Given the description of an element on the screen output the (x, y) to click on. 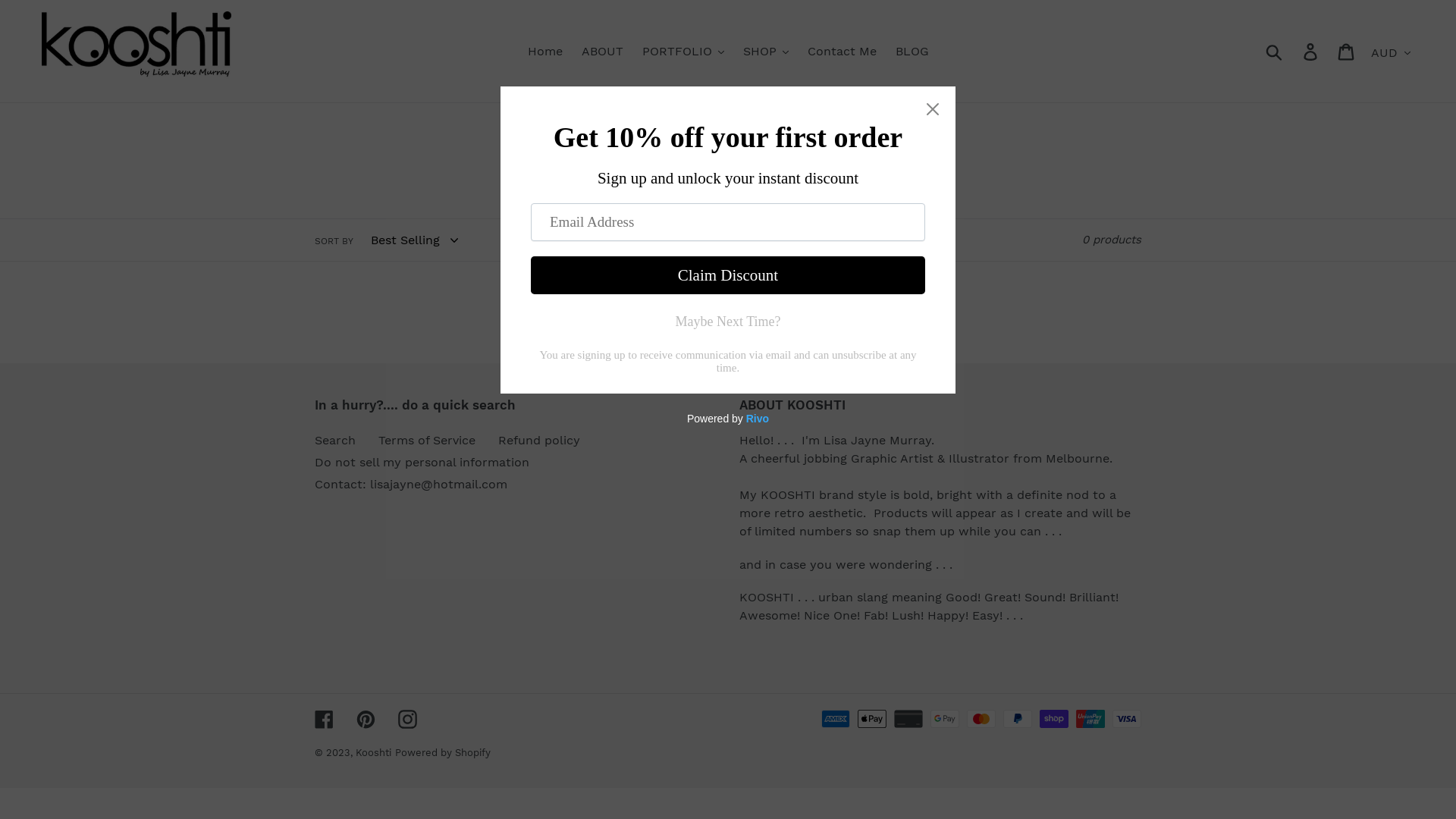
Home Element type: text (545, 50)
Powered by Shopify Element type: text (442, 752)
Instagram Element type: text (407, 719)
Kooshti Element type: text (373, 752)
Refund policy Element type: text (539, 440)
Facebook Element type: text (323, 719)
Terms of Service Element type: text (426, 440)
Search Element type: text (334, 440)
Contact: lisajayne@hotmail.com Element type: text (410, 483)
Log in Element type: text (1311, 51)
Submit Element type: text (1274, 51)
ABOUT Element type: text (601, 50)
Pinterest Element type: text (365, 719)
Do not sell my personal information Element type: text (421, 462)
Cart Element type: text (1347, 51)
BLOG Element type: text (911, 50)
Contact Me Element type: text (841, 50)
